Given the description of an element on the screen output the (x, y) to click on. 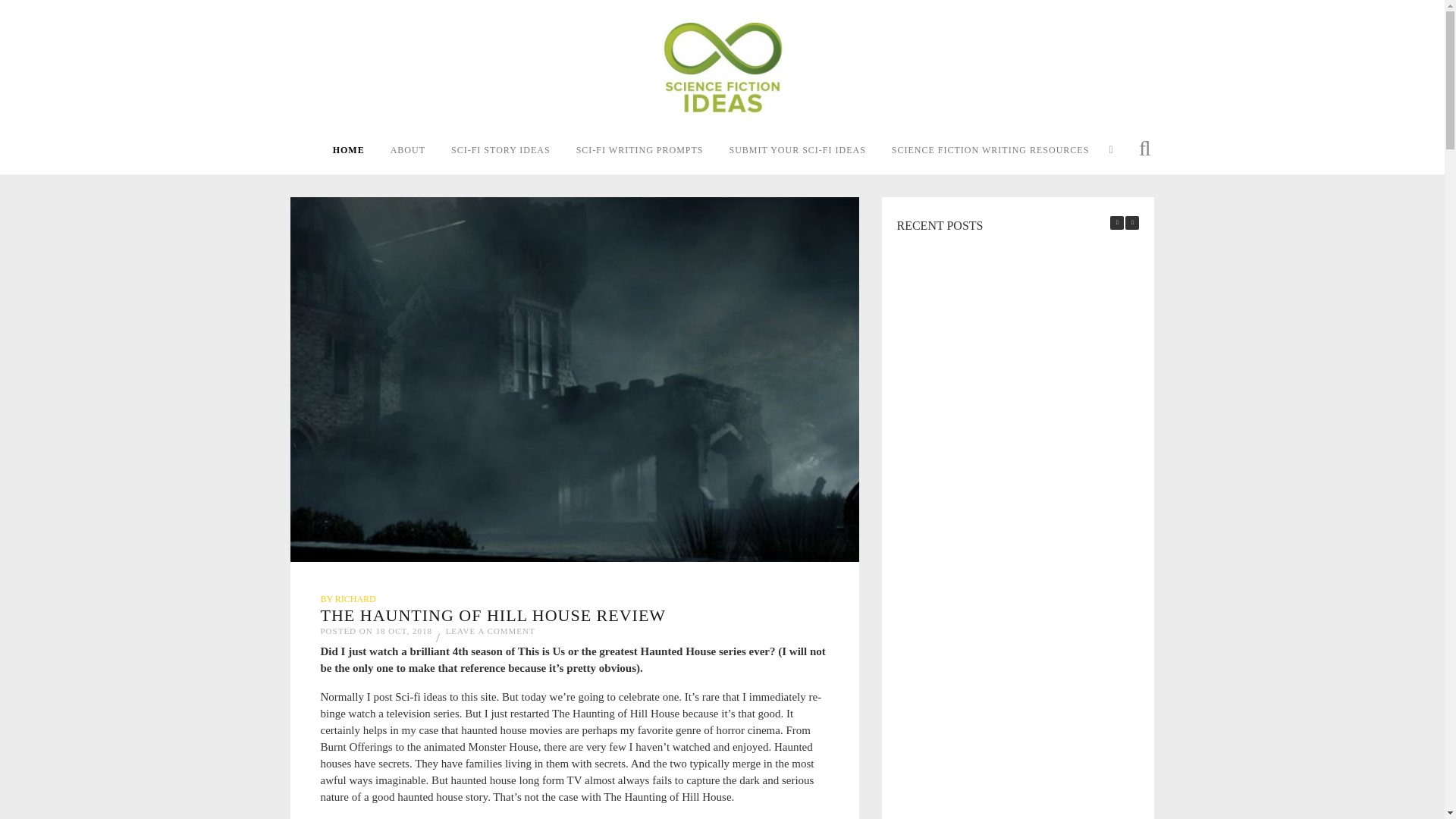
THE HAUNTING OF HILL HOUSE REVIEW (492, 615)
Posts by Richard (354, 598)
SCIENCE FICTION WRITING RESOURCES (1001, 150)
LEAVE A COMMENT (490, 630)
ABOUT (419, 150)
HOME (360, 150)
SCI-FI WRITING PROMPTS (651, 150)
SCI-FI STORY IDEAS (512, 150)
RICHARD (354, 598)
logo (722, 72)
SUBMIT YOUR SCI-FI IDEAS (808, 150)
